Given the description of an element on the screen output the (x, y) to click on. 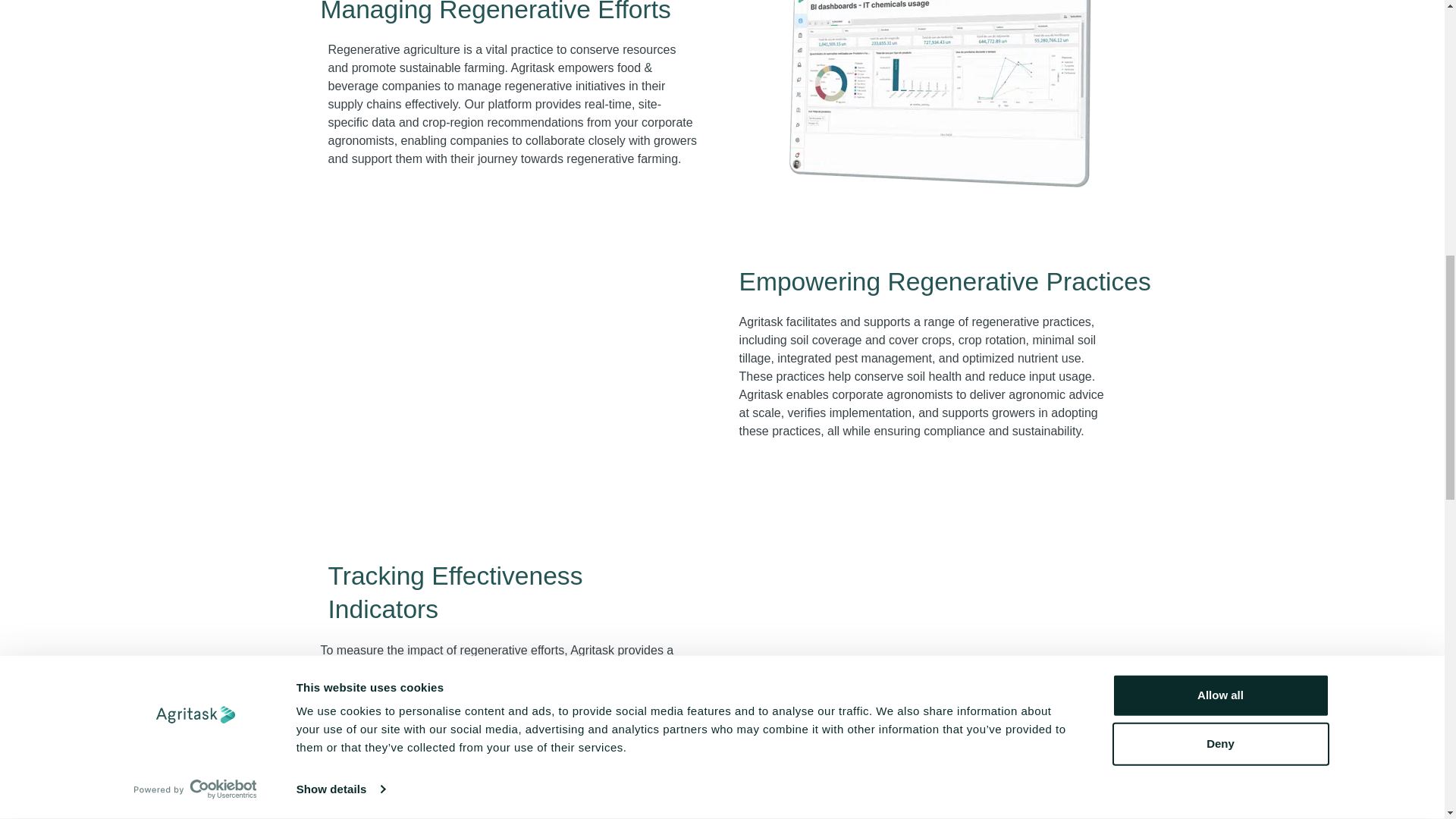
Tracking Effectiveness Indicators (938, 663)
